Given the description of an element on the screen output the (x, y) to click on. 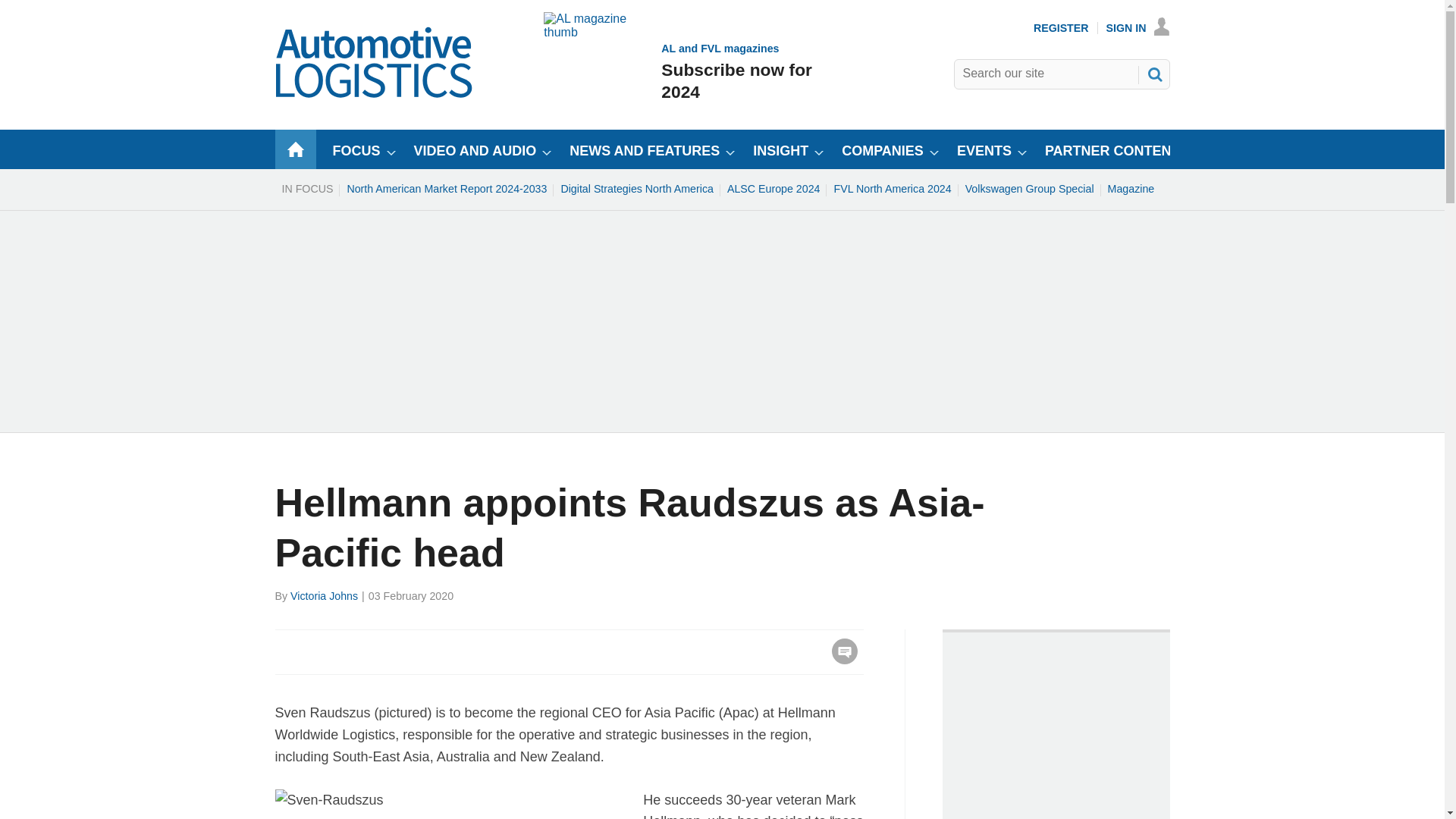
REGISTER (1061, 28)
Magazine (1130, 188)
Digital Strategies North America (636, 188)
FVL North America 2024 (892, 188)
Email this article (386, 651)
Share this on Twitter (320, 651)
No comments (840, 660)
SEARCH (1153, 74)
North American Market Report 2024-2033 (446, 188)
Automotive Logistics (679, 70)
ALSC Europe 2024 (375, 94)
Volkswagen Group Special (773, 188)
SIGN IN (1029, 188)
Share this on Facebook (1138, 28)
